Given the description of an element on the screen output the (x, y) to click on. 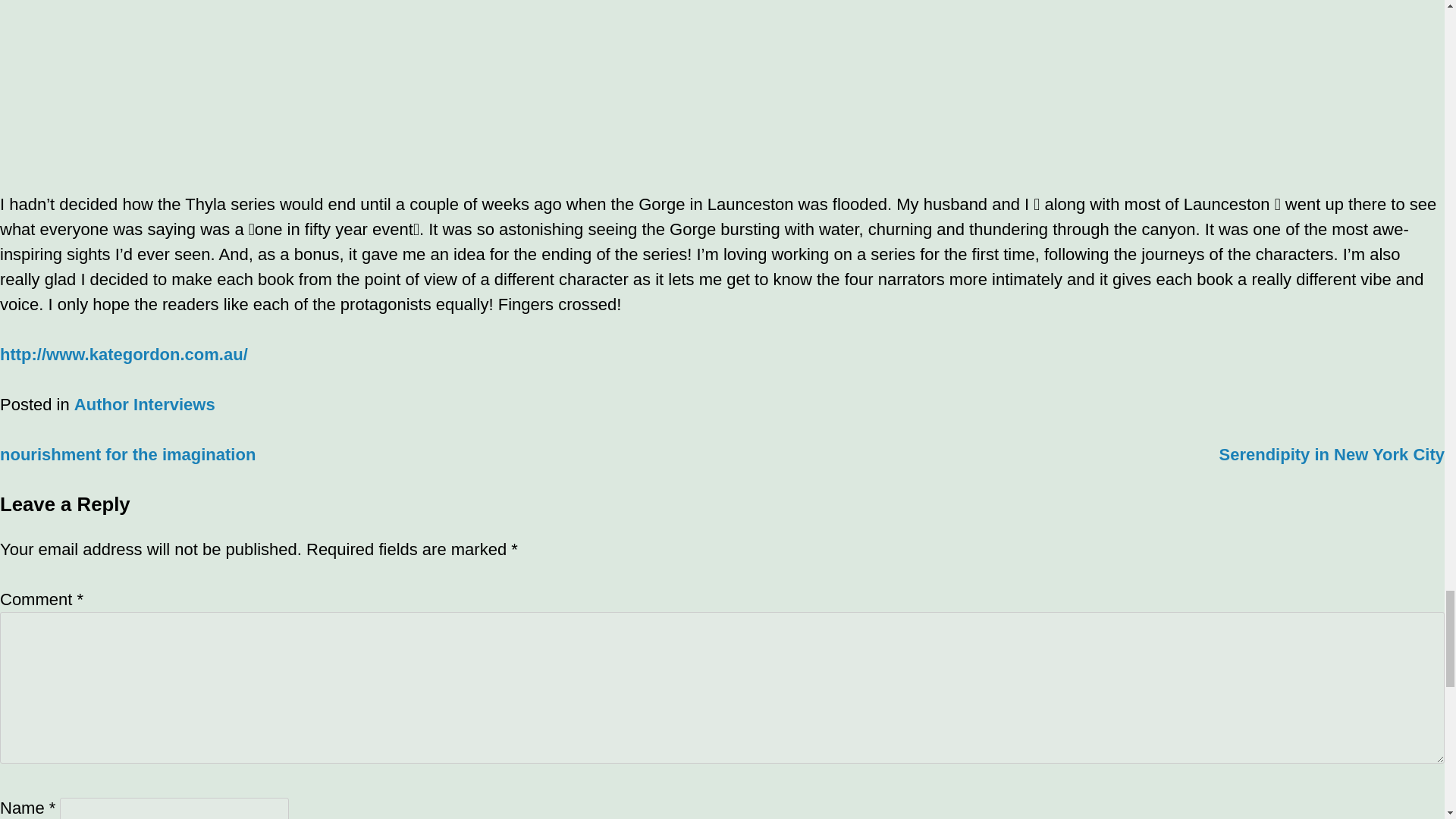
nourishment for the imagination (128, 454)
Author Interviews (144, 404)
